Given the description of an element on the screen output the (x, y) to click on. 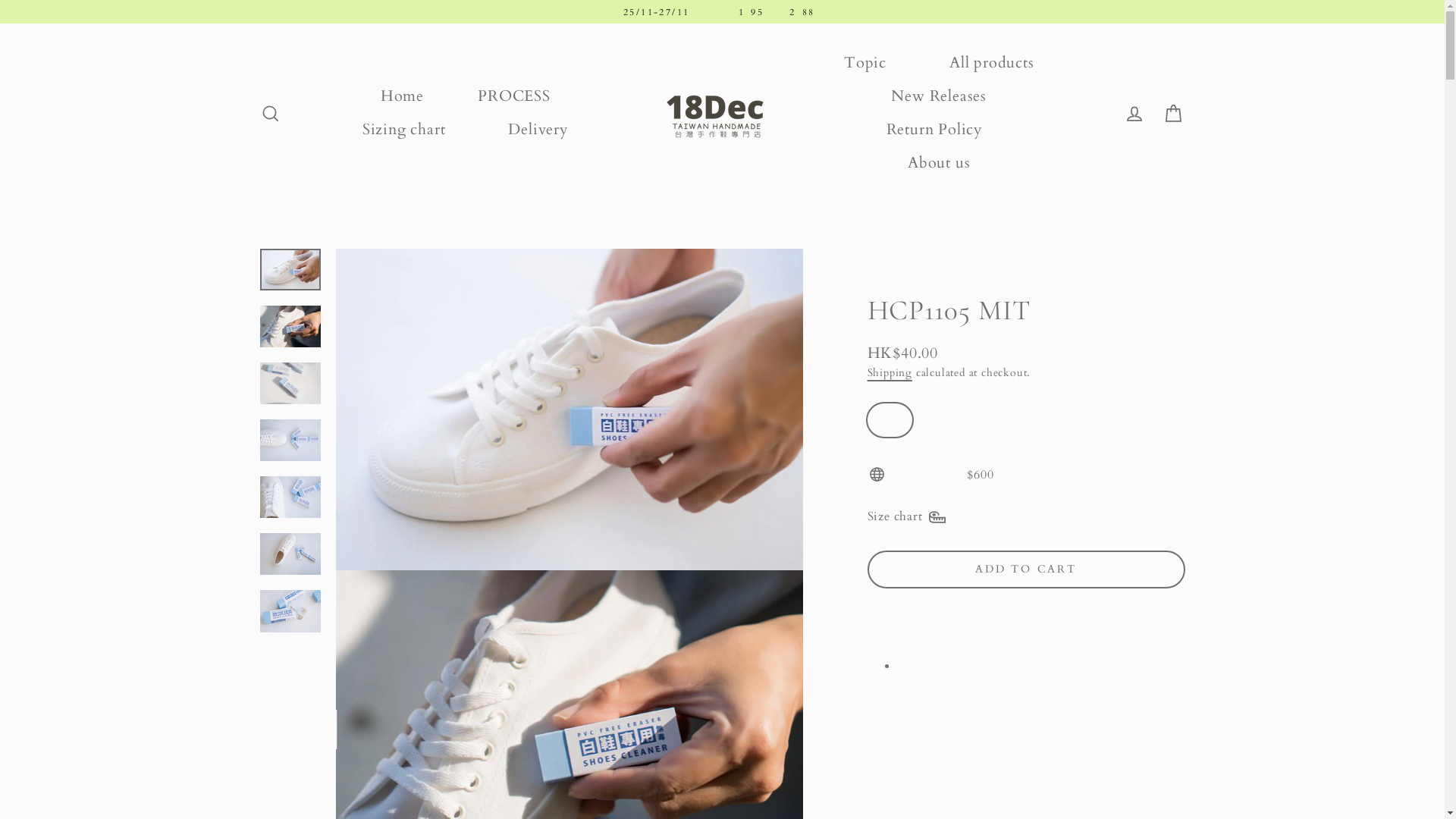
Cart Element type: text (1173, 113)
Log in Element type: text (1134, 113)
ADD TO CART Element type: text (1026, 569)
Search Element type: text (269, 113)
Shipping Element type: text (889, 372)
